Given the description of an element on the screen output the (x, y) to click on. 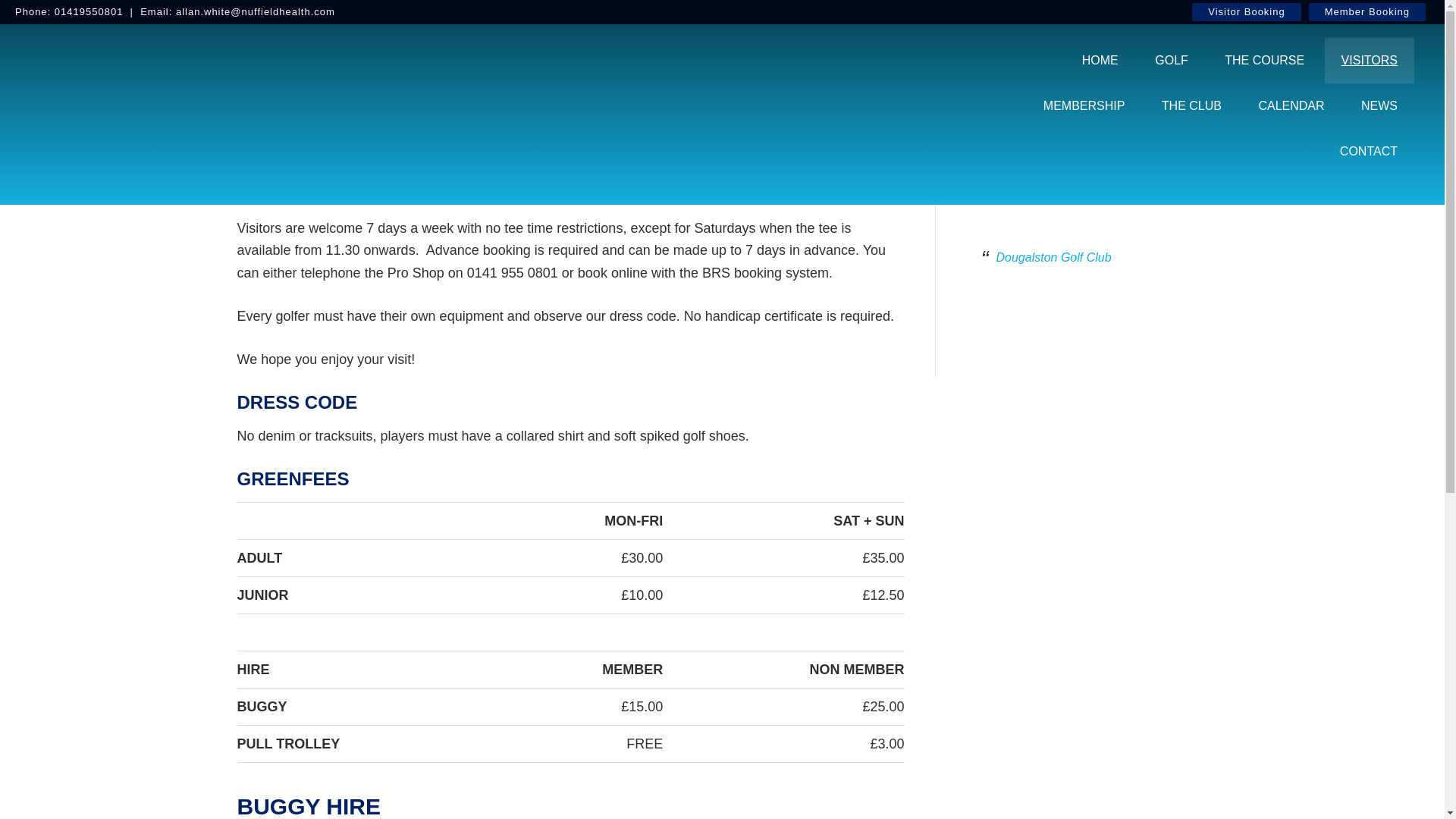
HOME (1100, 60)
NEWS (1378, 105)
GOLF (1171, 60)
CALENDAR (1290, 105)
01419550801 (89, 11)
Visitor Booking (1246, 12)
Dougalston Golf Club (1053, 256)
CONTACT (1368, 151)
Member Booking (1366, 12)
